Given the description of an element on the screen output the (x, y) to click on. 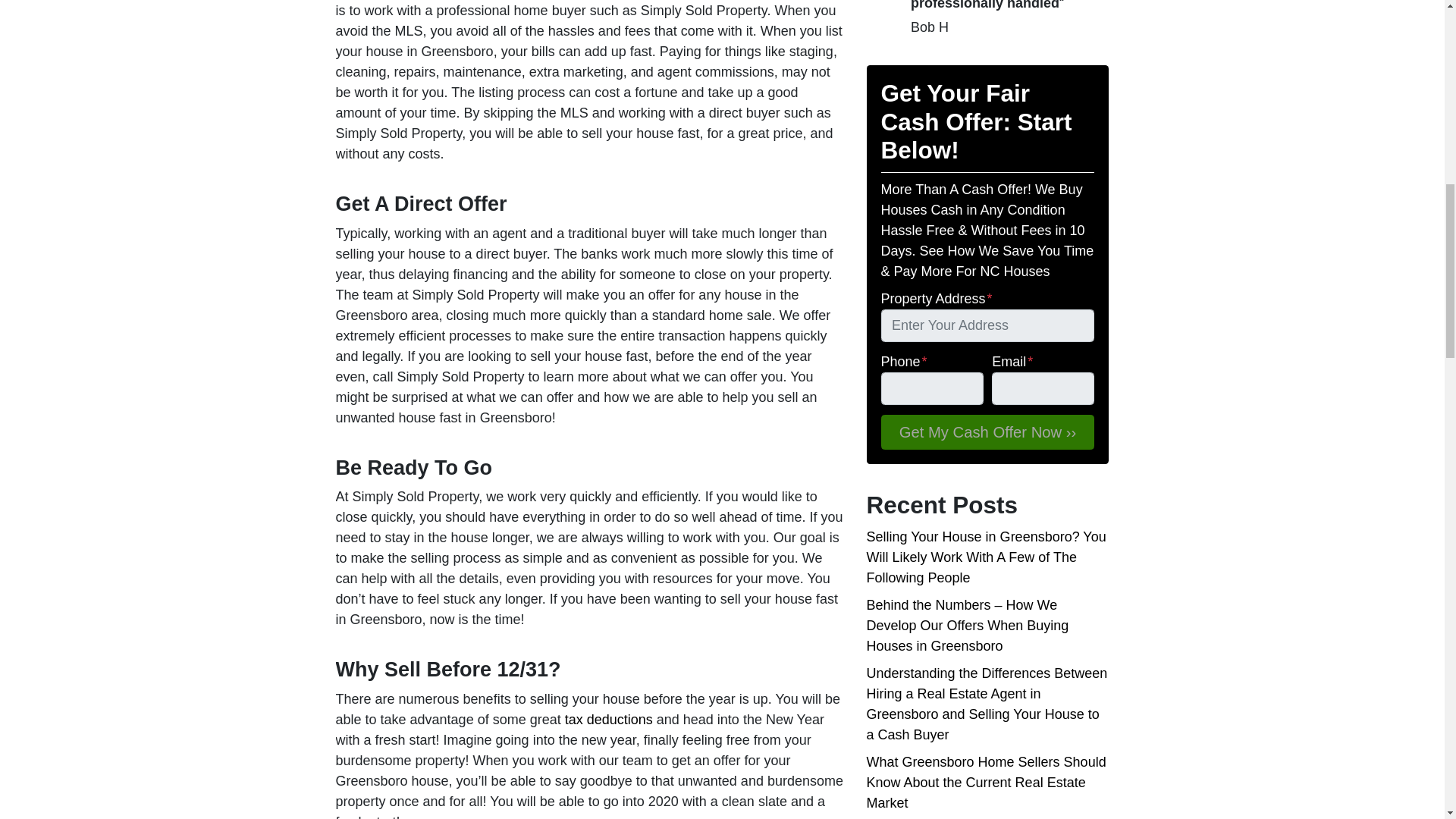
tax deductions (608, 719)
